Given the description of an element on the screen output the (x, y) to click on. 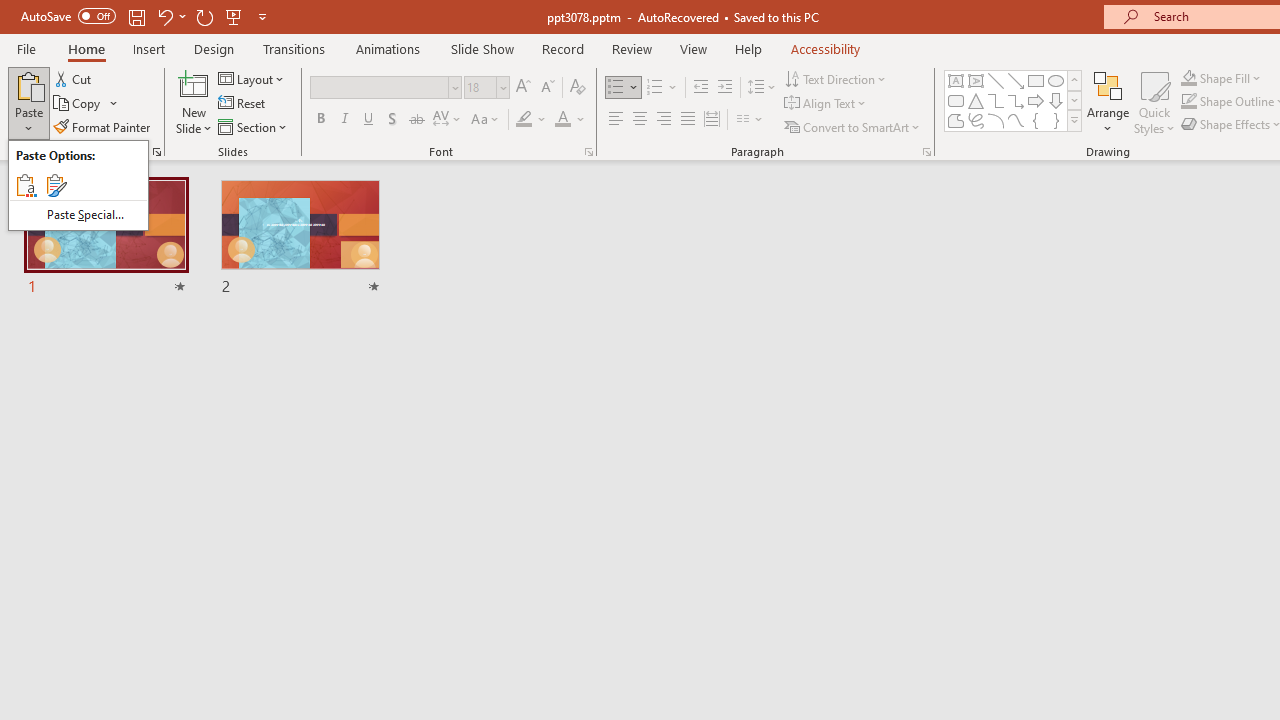
Font Size (480, 87)
Convert to SmartArt (853, 126)
Paragraph... (926, 151)
Align Right (663, 119)
Change Case (486, 119)
Format Painter (103, 126)
Increase Indent (725, 87)
Distributed (712, 119)
Text Highlight Color (531, 119)
Numbering (654, 87)
Isosceles Triangle (975, 100)
Center (639, 119)
Connector: Elbow Arrow (1016, 100)
